Given the description of an element on the screen output the (x, y) to click on. 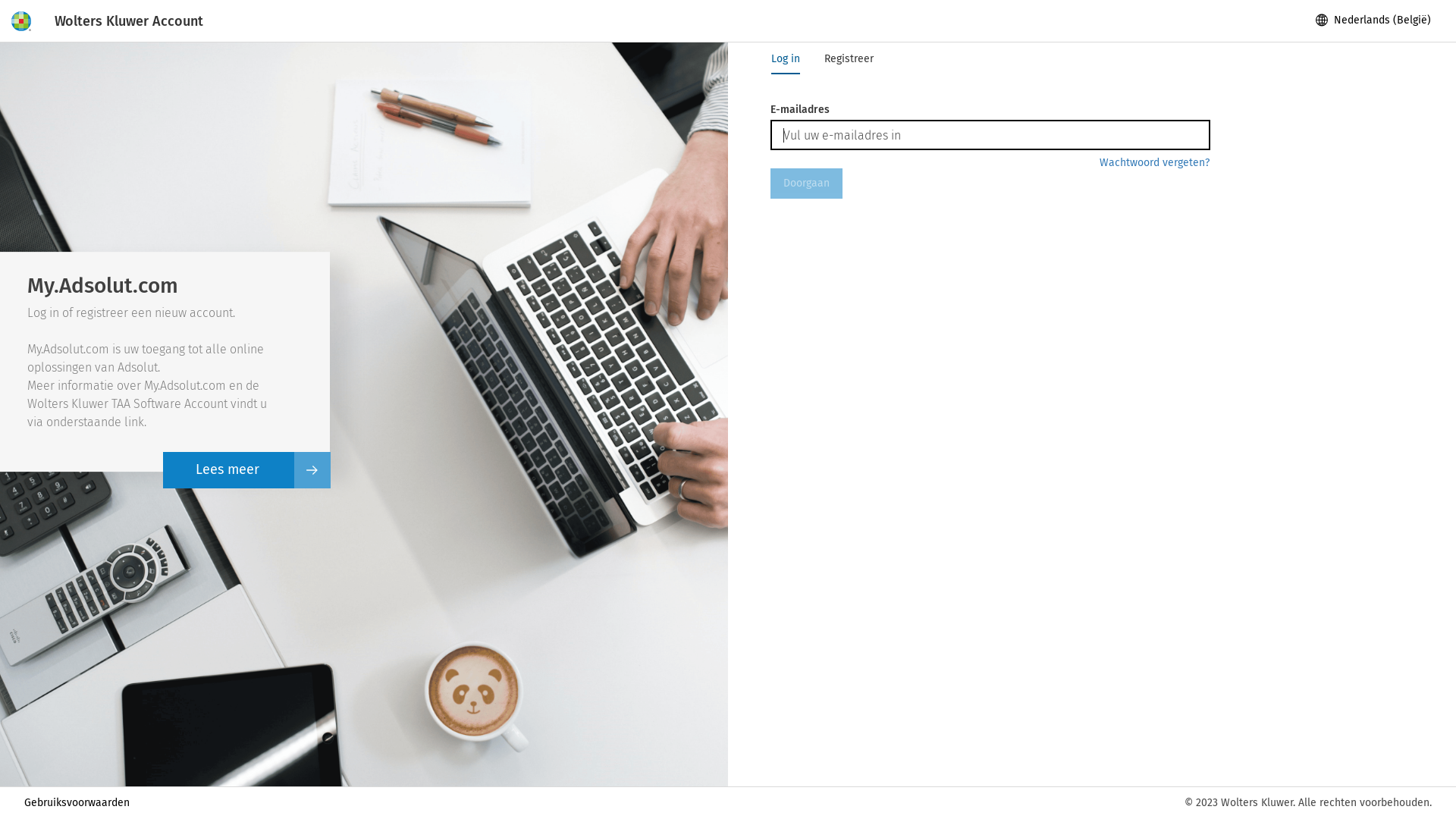
Wachtwoord vergeten? Element type: text (1149, 162)
globe Element type: hover (1321, 19)
Doorgaan Element type: text (806, 183)
Wolters Kluwer logo Element type: hover (21, 20)
Gebruiksvoorwaarden Element type: text (76, 802)
Lees meer Element type: text (228, 469)
